Given the description of an element on the screen output the (x, y) to click on. 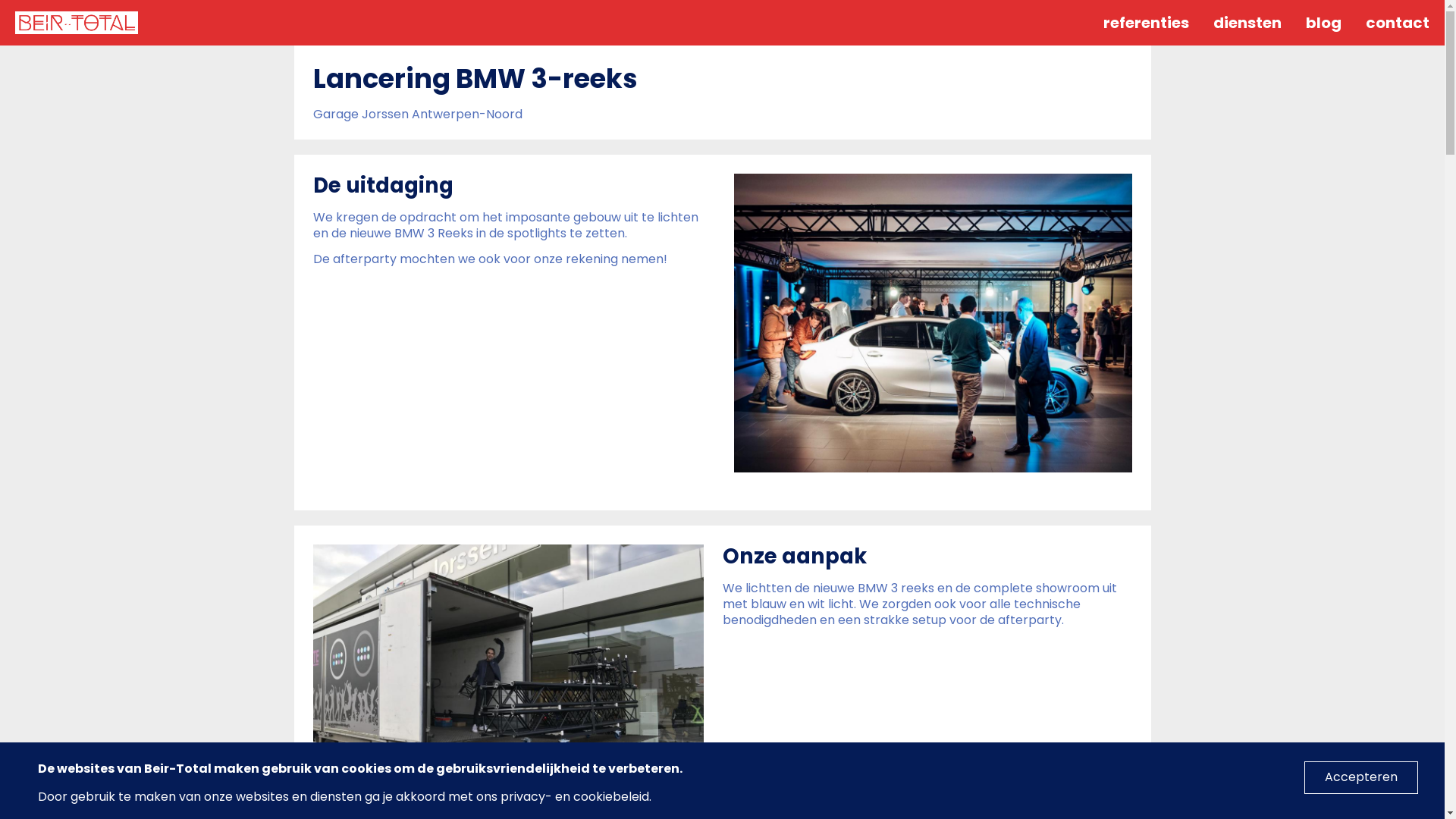
cookiebeleid Element type: text (611, 796)
diensten Element type: text (1247, 22)
blog Element type: text (1323, 22)
contact Element type: text (1397, 22)
Accepteren Element type: text (1361, 777)
referenties Element type: text (1146, 22)
privacy- Element type: text (526, 796)
